Given the description of an element on the screen output the (x, y) to click on. 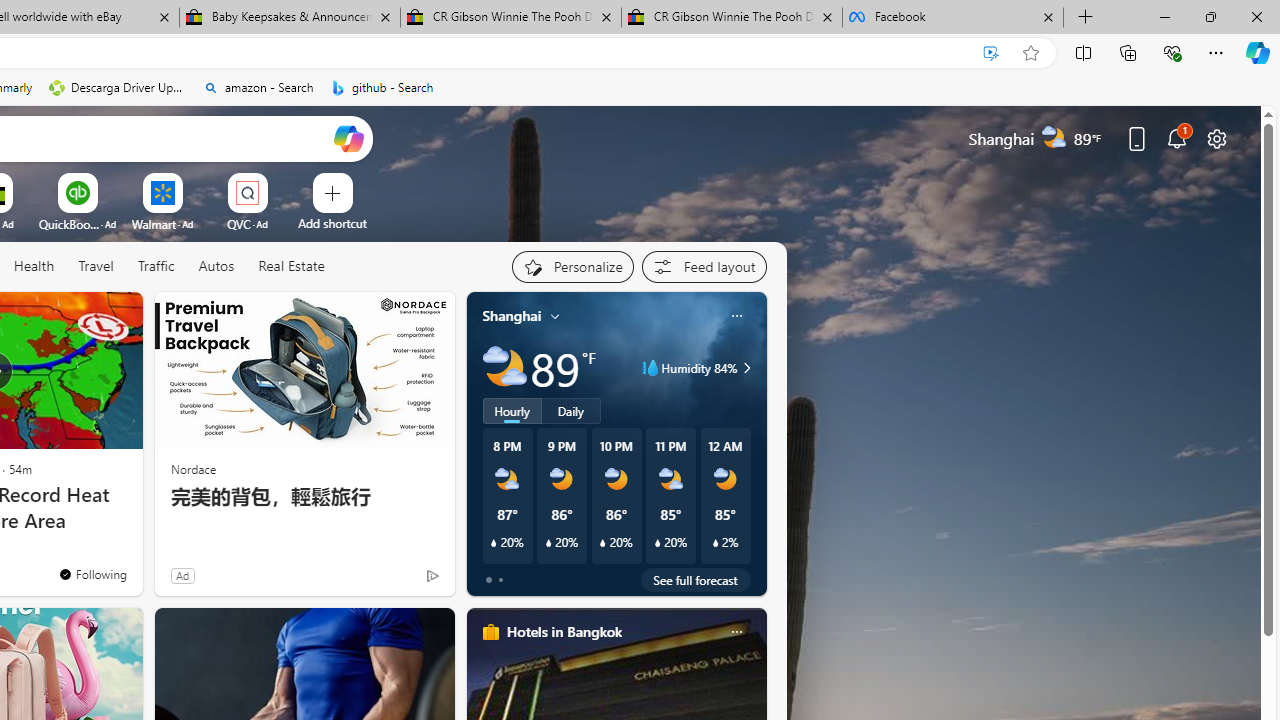
Real Estate (291, 265)
Real Estate (290, 267)
Close tab (1048, 16)
See more (118, 315)
tab-1 (500, 579)
Class: weather-arrow-glyph (746, 367)
You're following The Weather Channel (92, 573)
hotels-header-icon (490, 632)
Health (34, 265)
Autos (216, 267)
tab-0 (488, 579)
